Given the description of an element on the screen output the (x, y) to click on. 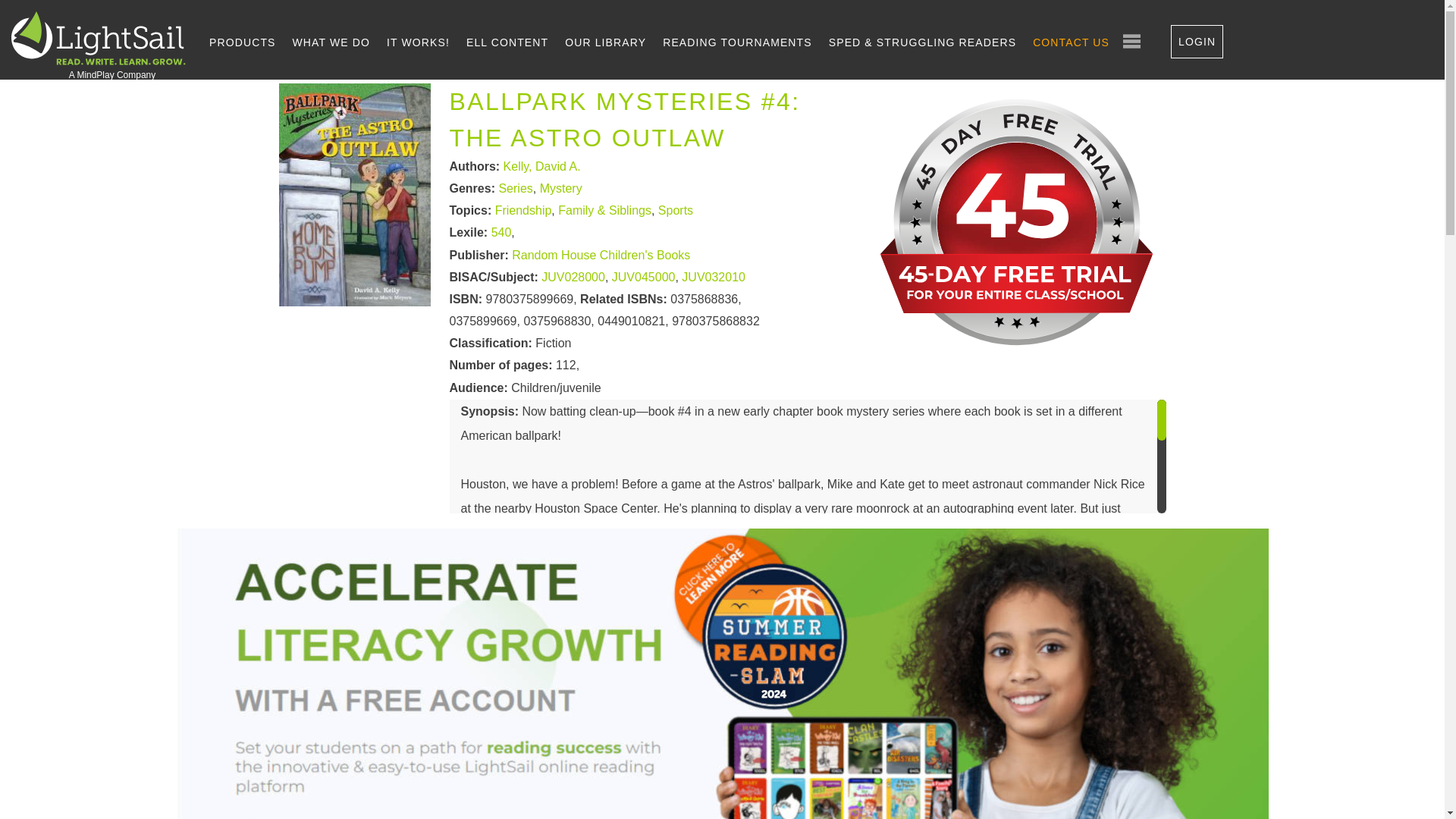
JUV045000 (643, 277)
Sports (675, 210)
540 (502, 232)
PRODUCTS (242, 42)
Friendship (523, 210)
IT WORKS! (418, 42)
READING TOURNAMENTS (737, 42)
ELL CONTENT (507, 42)
Random House Children's Books (601, 254)
Try LightSail (1019, 356)
